Given the description of an element on the screen output the (x, y) to click on. 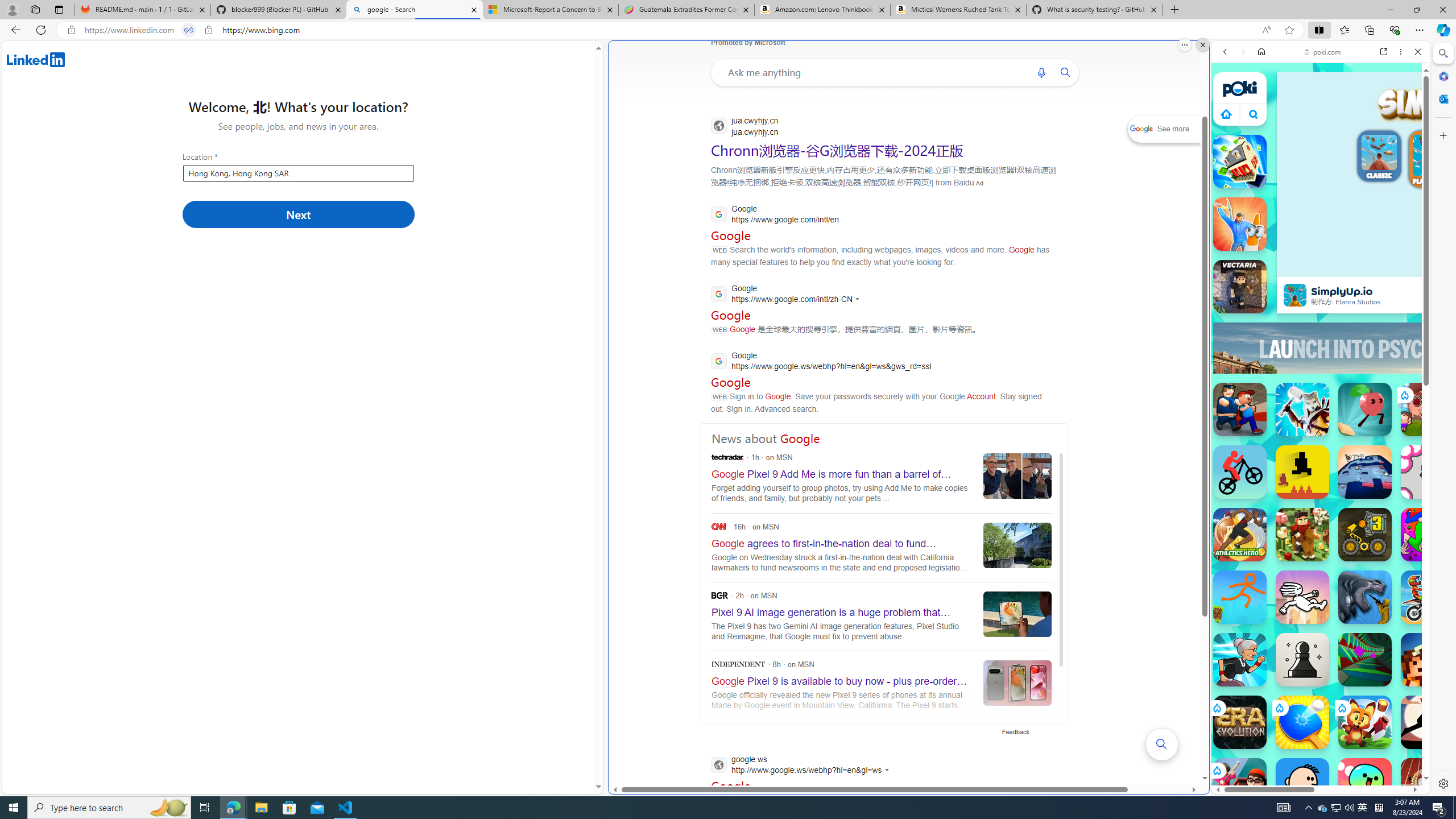
The Speed Ninja The Speed Ninja (1427, 722)
Class: rounded img-fluid d-block w-100 fit-cover (1433, 155)
Angry Gran Run (1239, 659)
Blumgi Slime Blumgi Slime (1364, 784)
Two Player Games (1320, 323)
Classic Chess (1302, 659)
Poor Eddie (1302, 784)
Athletics Hero Athletics Hero (1239, 534)
Blumgi Slime (1364, 784)
